Given the description of an element on the screen output the (x, y) to click on. 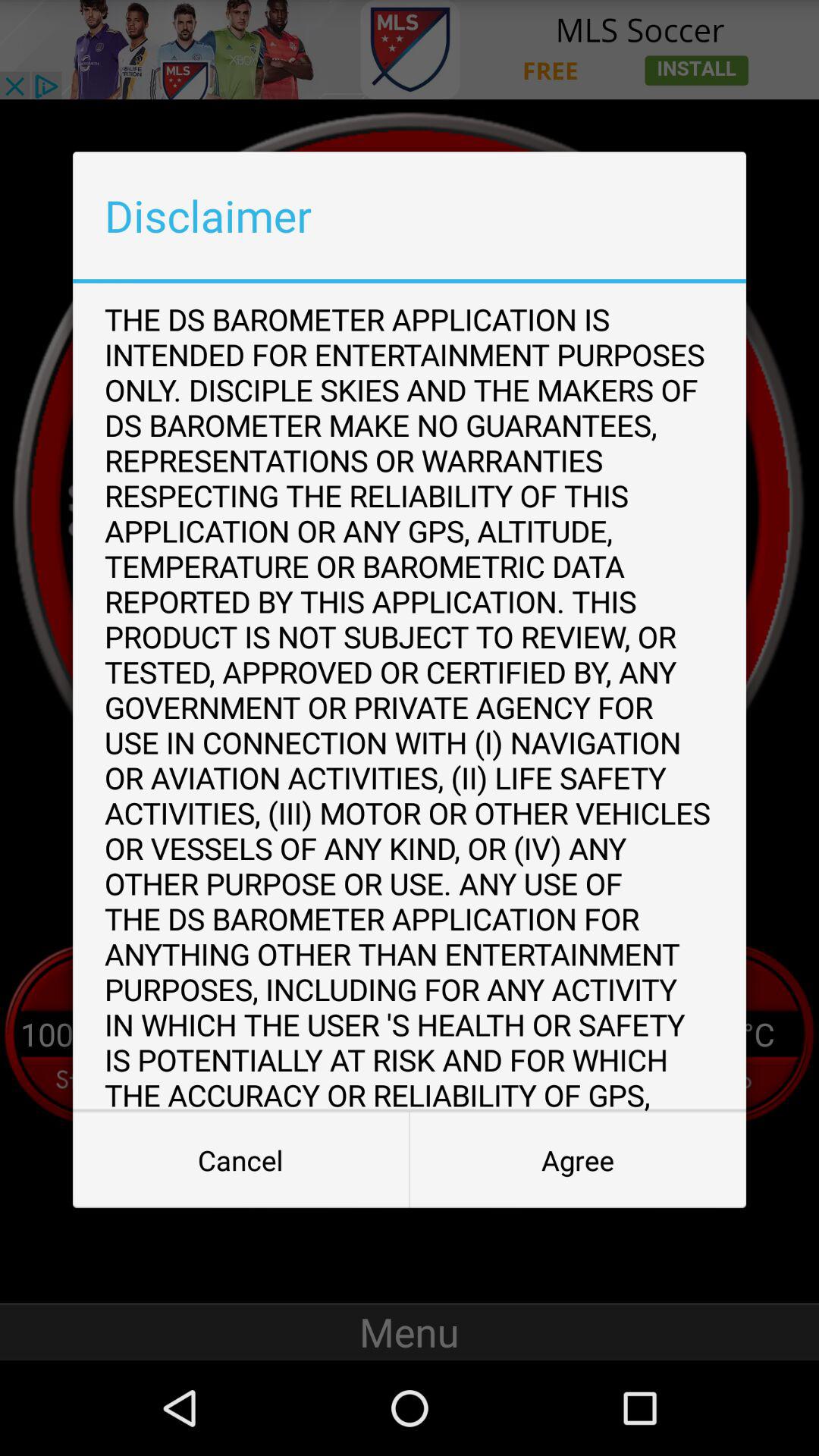
turn off the button at the bottom left corner (240, 1160)
